Given the description of an element on the screen output the (x, y) to click on. 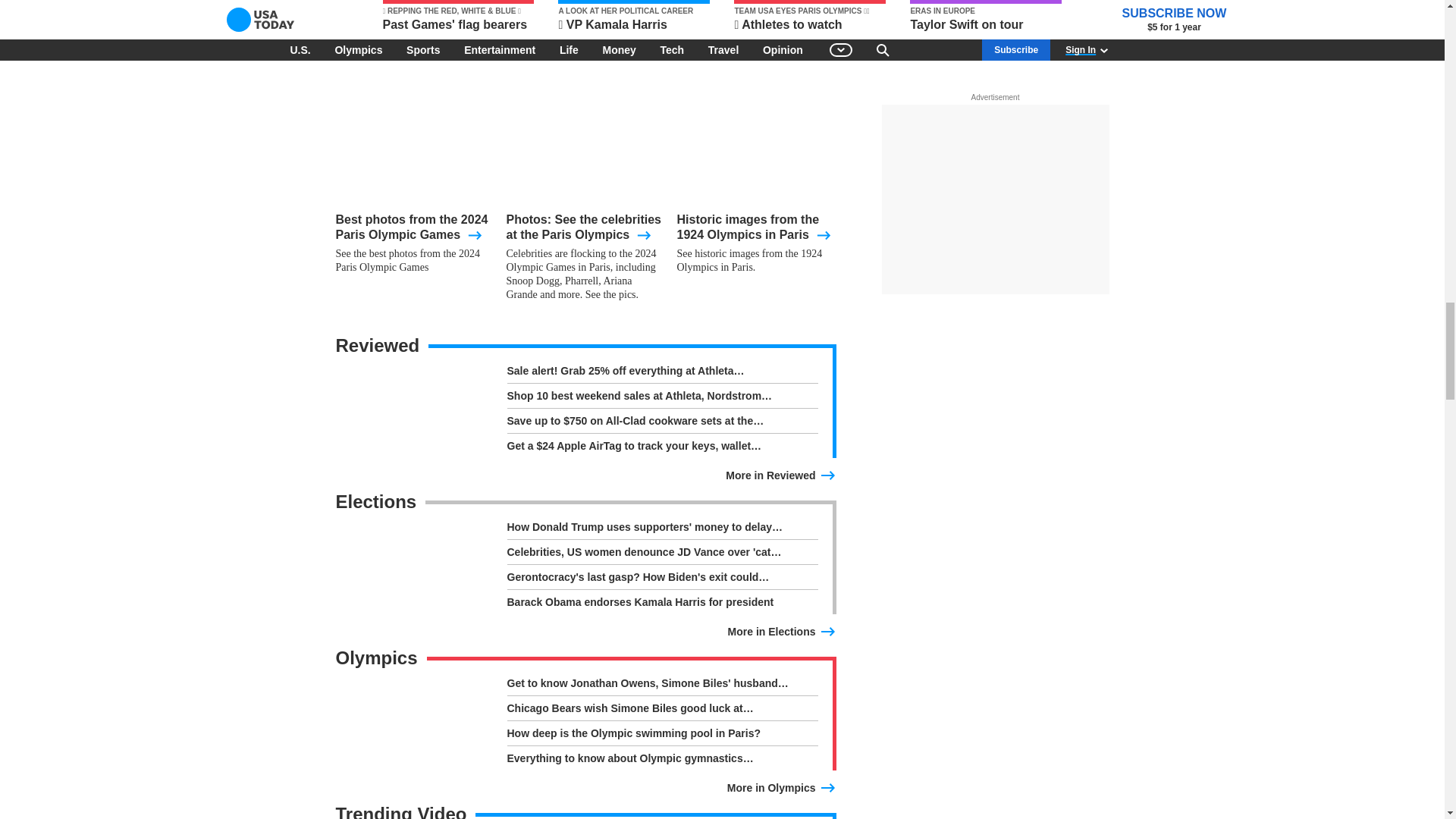
How Donald Trump uses supporters' money to delay his trials (661, 529)
Shop 10 best weekend sales at Athleta, Nordstrom, Peacock (661, 398)
Chicago Bears wish Simone Biles good luck at Paris Olympics (661, 711)
